Given the description of an element on the screen output the (x, y) to click on. 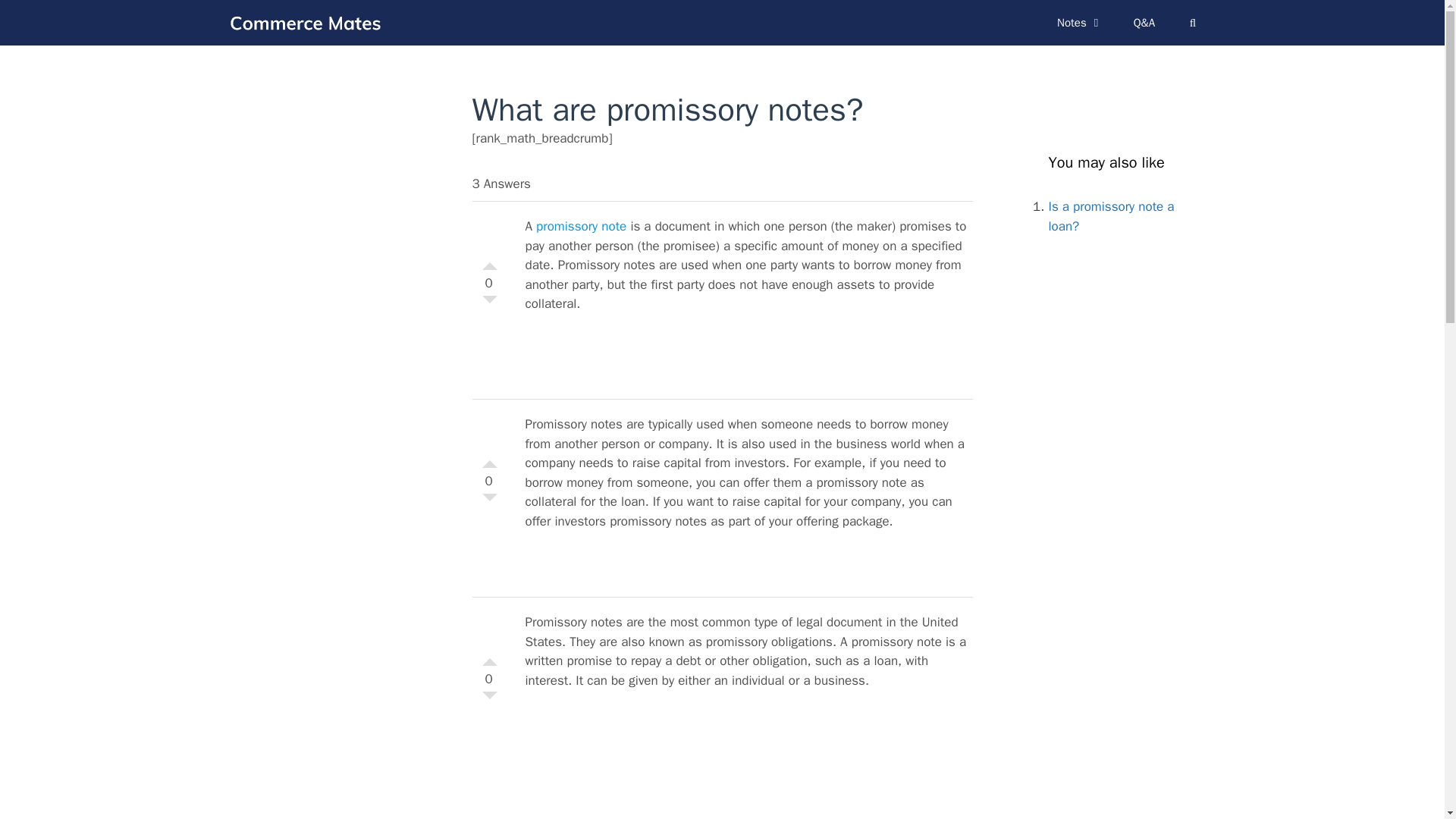
CommerceMates (308, 22)
Notes (1080, 22)
CommerceMates (304, 22)
